Given the description of an element on the screen output the (x, y) to click on. 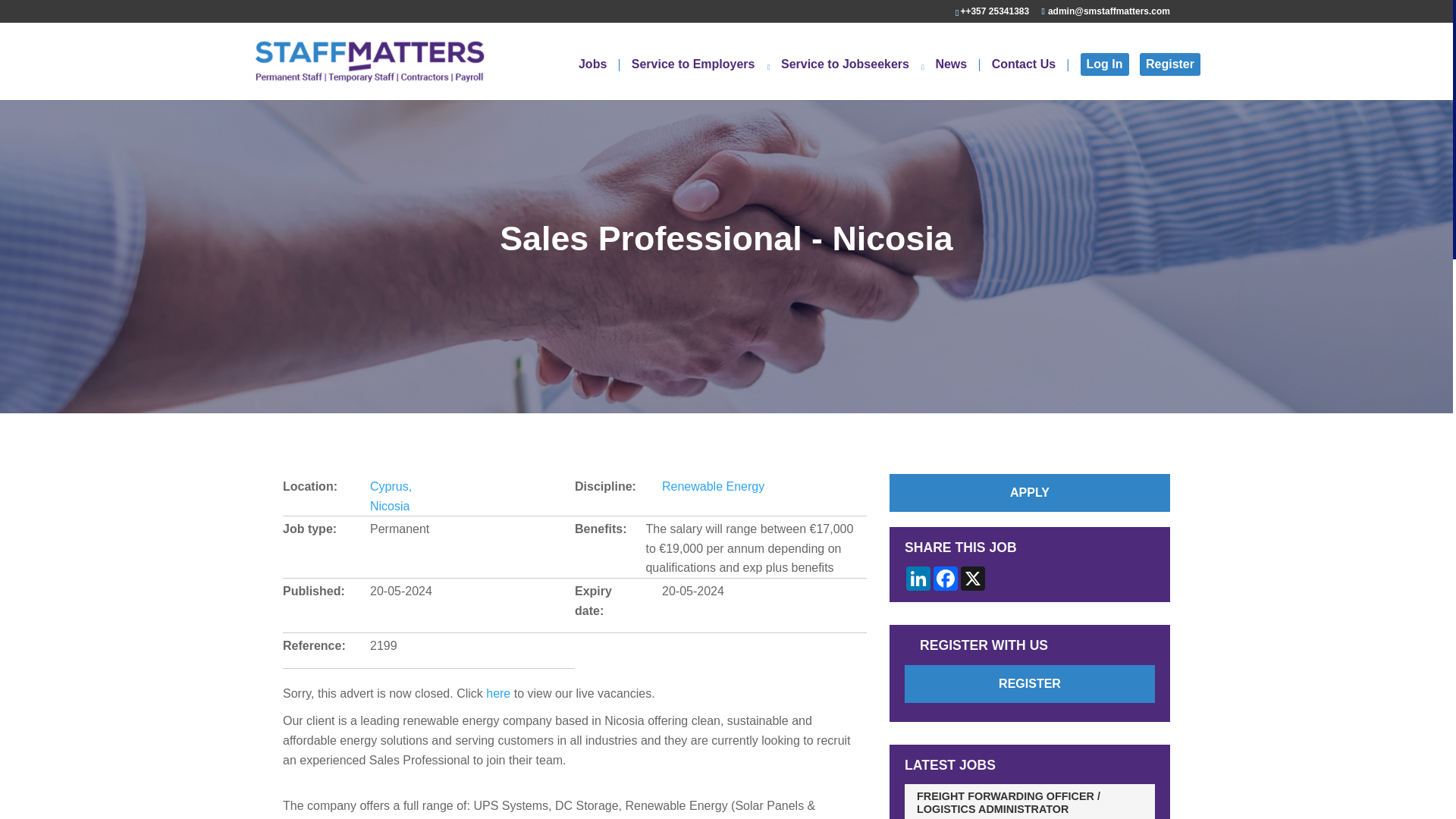
Service to Jobseekers (852, 78)
Contact Us (1029, 78)
News (956, 78)
StaffMatters Recruitment (369, 60)
Jobs (599, 78)
Service to Employers (700, 78)
Register (1169, 64)
Log In (1104, 64)
